Given the description of an element on the screen output the (x, y) to click on. 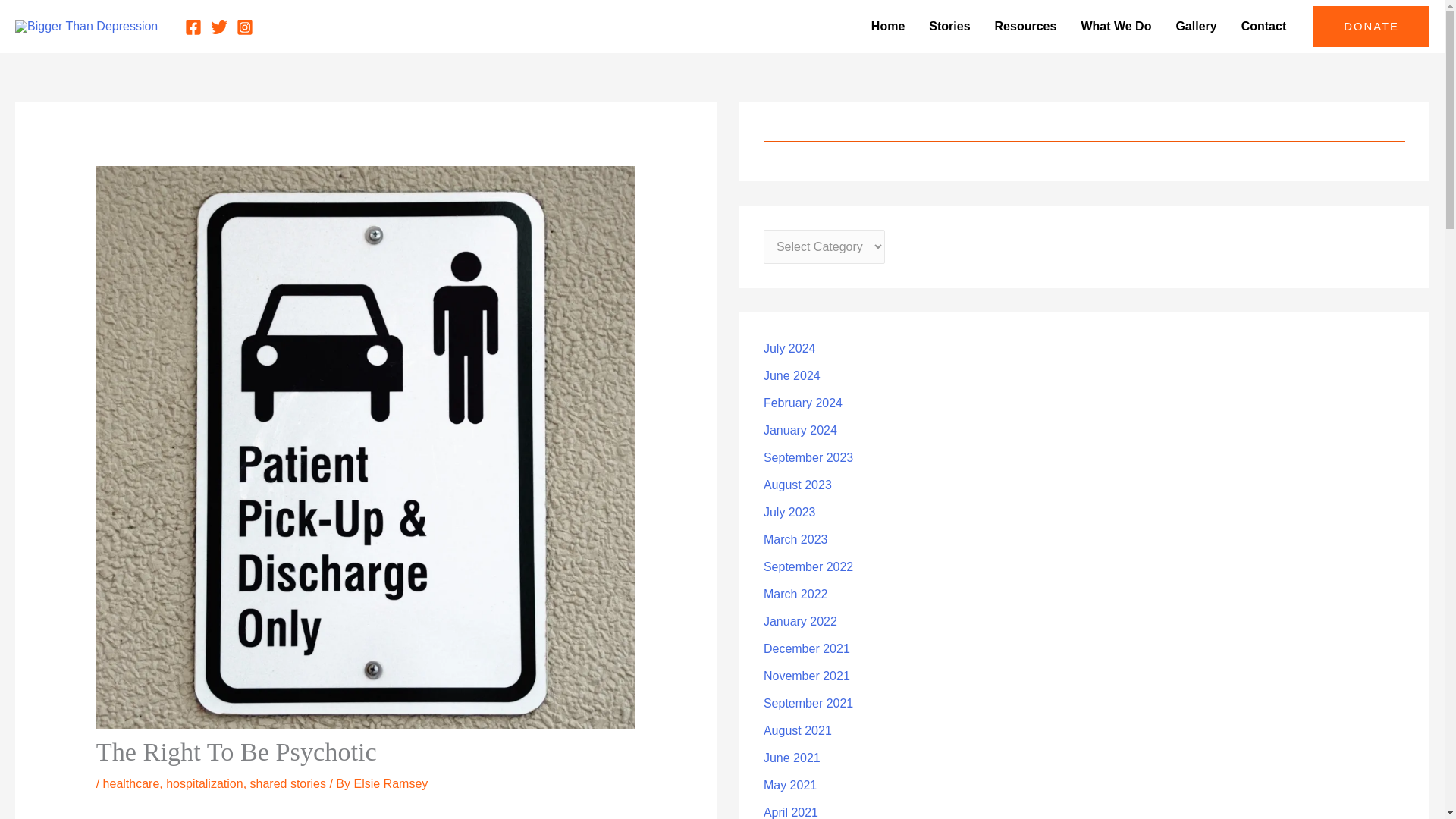
Stories (949, 26)
Home (888, 26)
DONATE (1371, 26)
Gallery (1195, 26)
View all posts by Elsie Ramsey (390, 783)
Contact (1263, 26)
healthcare (131, 783)
shared stories (288, 783)
Resources (1025, 26)
What We Do (1115, 26)
